Given the description of an element on the screen output the (x, y) to click on. 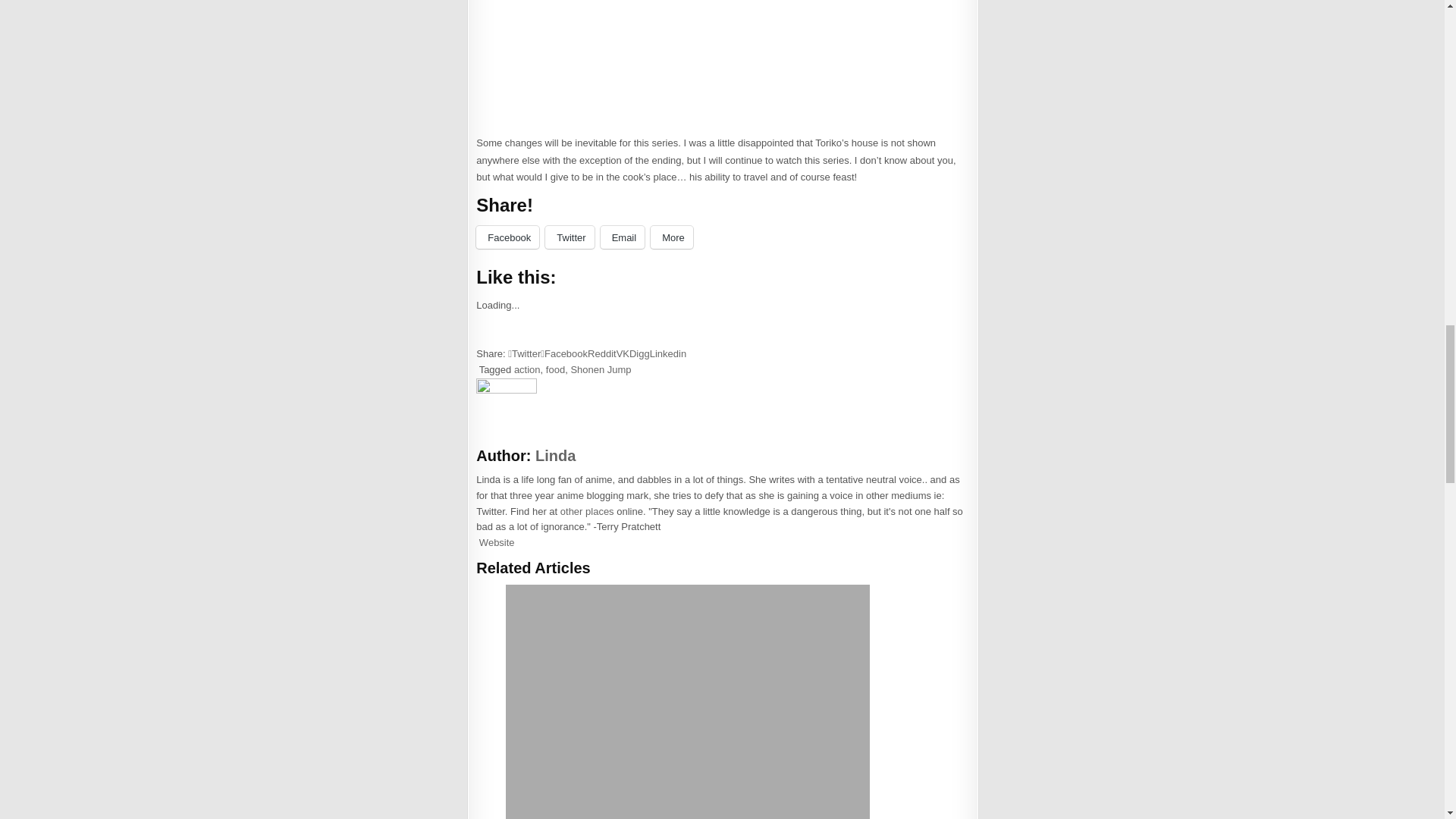
Click to share on Twitter (569, 237)
toriko4 (718, 63)
Click to share on Facebook (507, 237)
Click to email a link to a friend (622, 237)
